Given the description of an element on the screen output the (x, y) to click on. 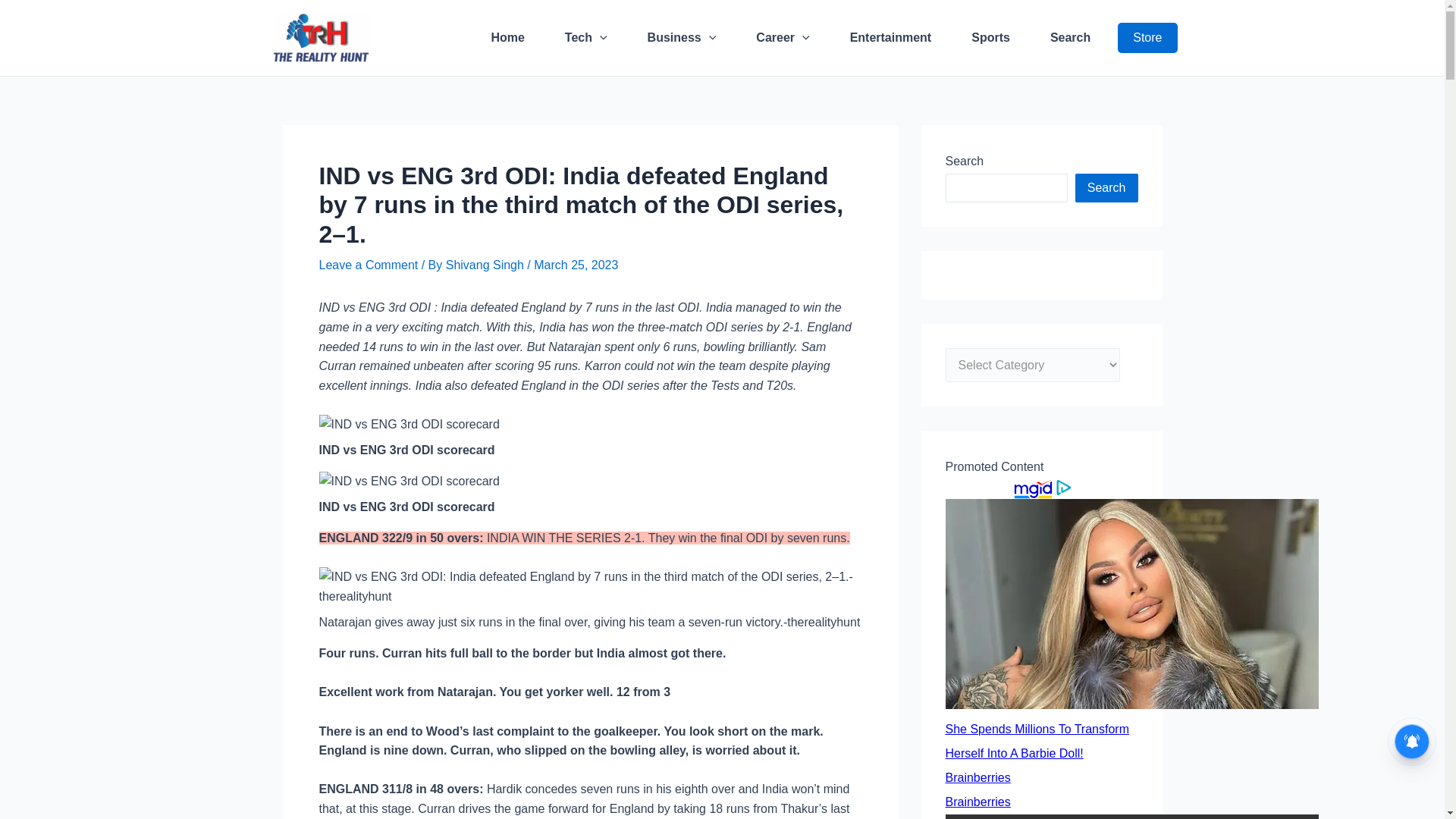
Tech (586, 37)
Entertainment (890, 37)
Business (681, 37)
Store (1147, 37)
View all posts by Shivang Singh (486, 264)
Search (1070, 37)
Sports (990, 37)
Career (782, 37)
Home (507, 37)
